Given the description of an element on the screen output the (x, y) to click on. 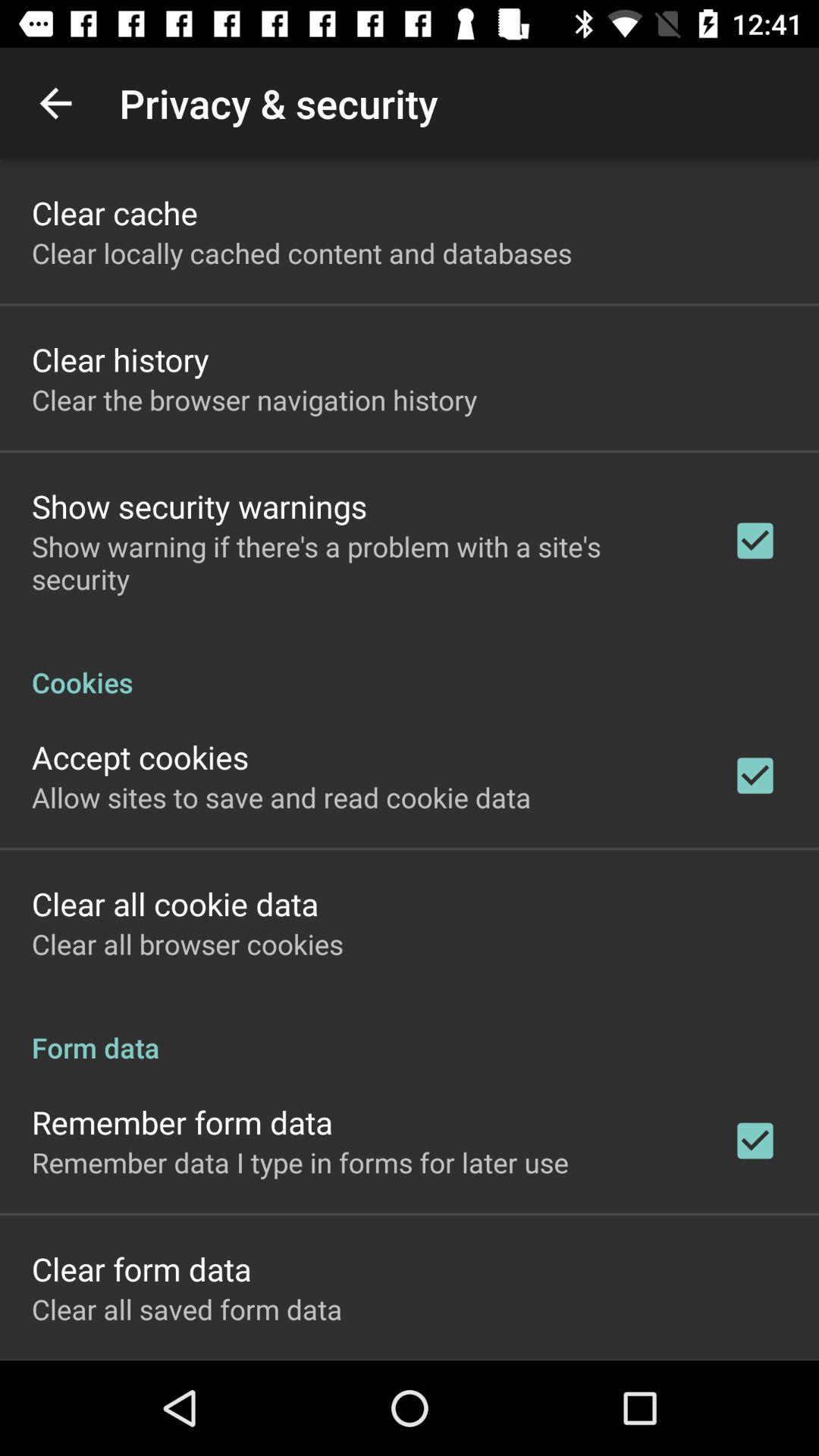
select icon below cookies icon (140, 756)
